Given the description of an element on the screen output the (x, y) to click on. 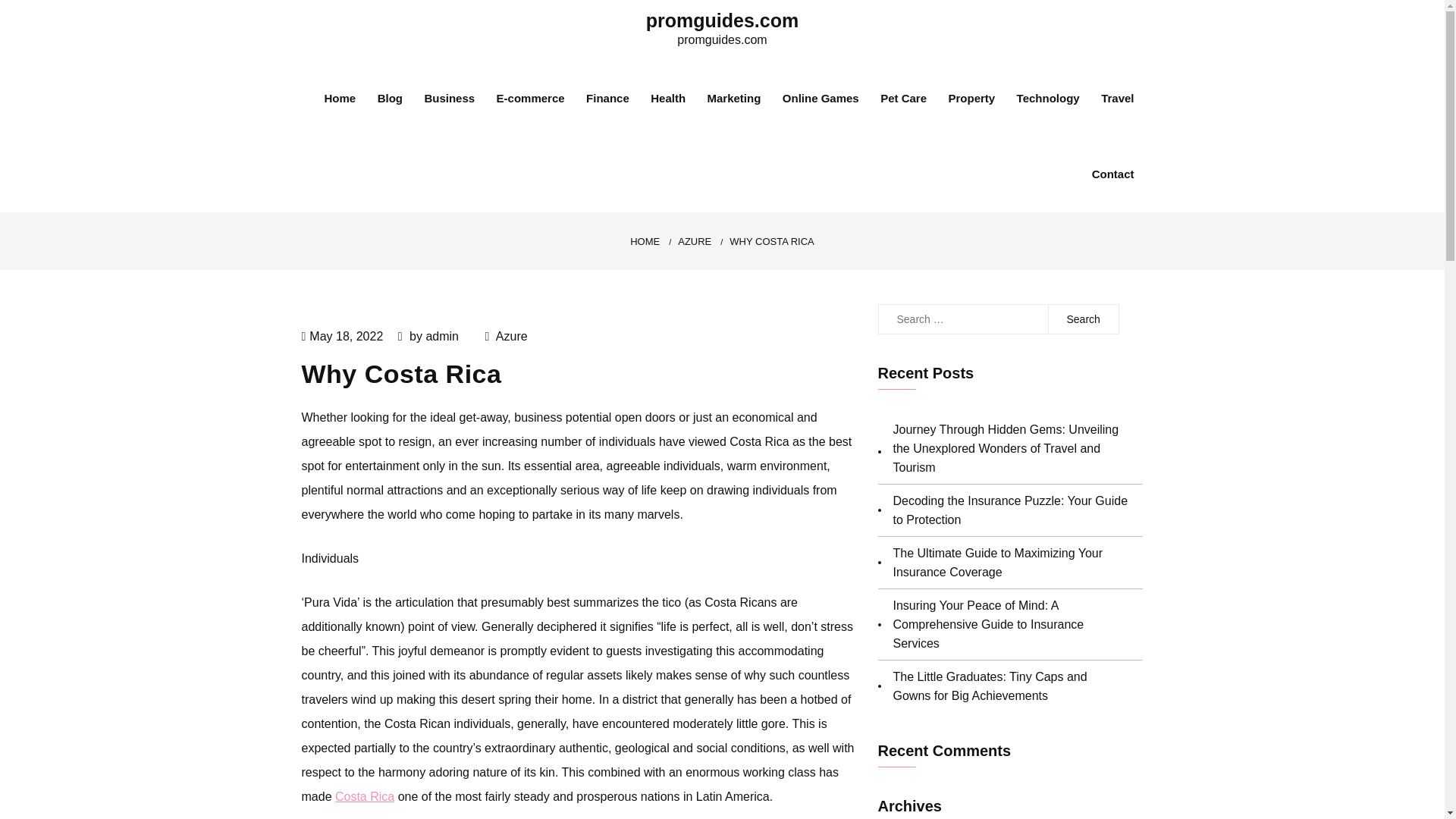
AZURE (694, 241)
admin (441, 336)
Costa Rica (364, 796)
Online Games (821, 98)
WHY COSTA RICA (771, 241)
The Ultimate Guide to Maximizing Your Insurance Coverage (998, 562)
Decoding the Insurance Puzzle: Your Guide to Protection (1010, 509)
Search (1083, 318)
Azure (511, 336)
HOME (644, 241)
May 18, 2022 (345, 336)
E-commerce (530, 98)
Search (1083, 318)
